Given the description of an element on the screen output the (x, y) to click on. 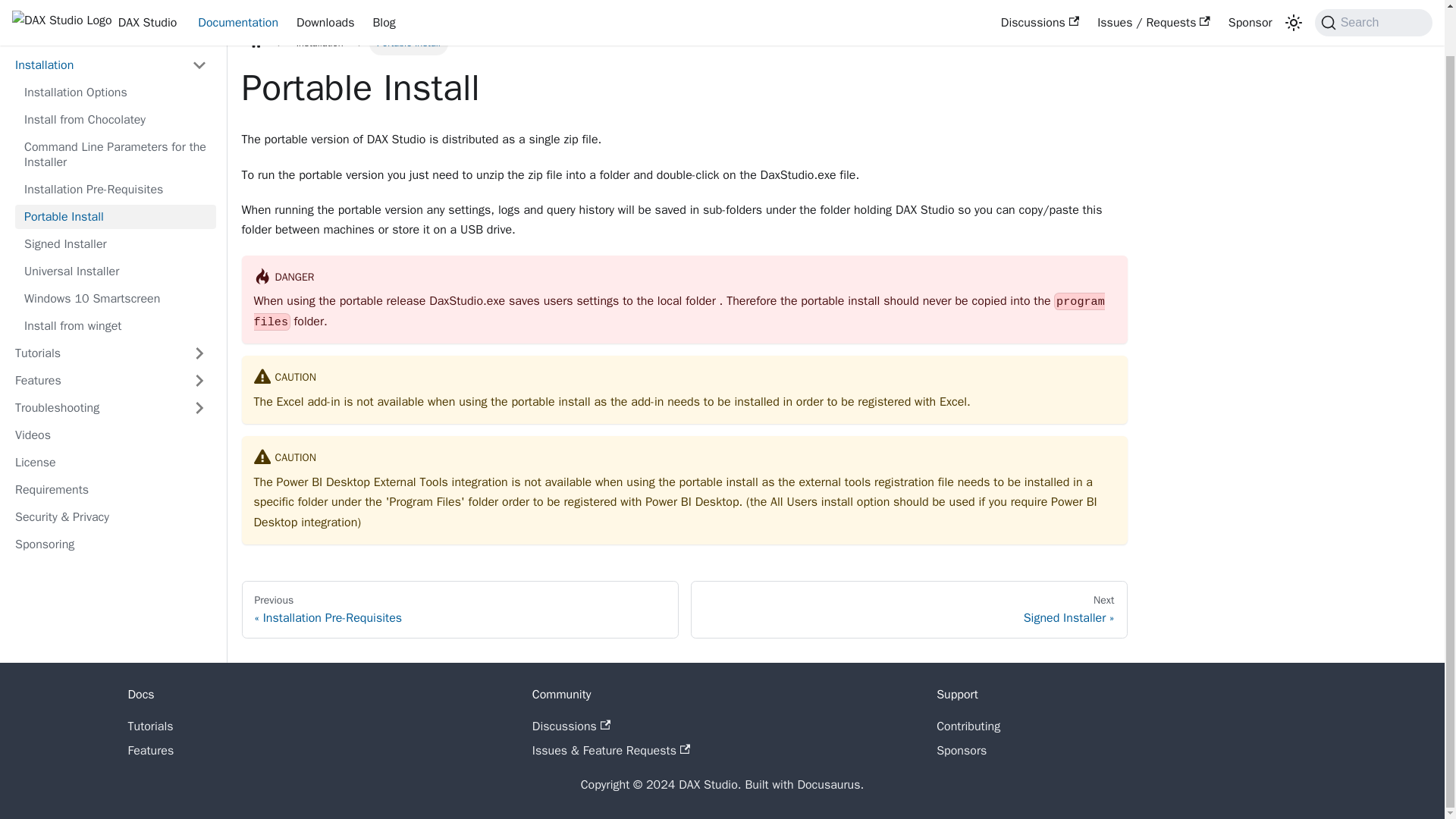
Installation (319, 43)
Features (94, 380)
Universal Installer (114, 271)
Portable Install (114, 216)
Tutorials (94, 353)
Sponsoring (110, 544)
Discussions (1039, 4)
Installation (94, 64)
Command Line Parameters for the Installer (114, 154)
Videos (110, 435)
